Given the description of an element on the screen output the (x, y) to click on. 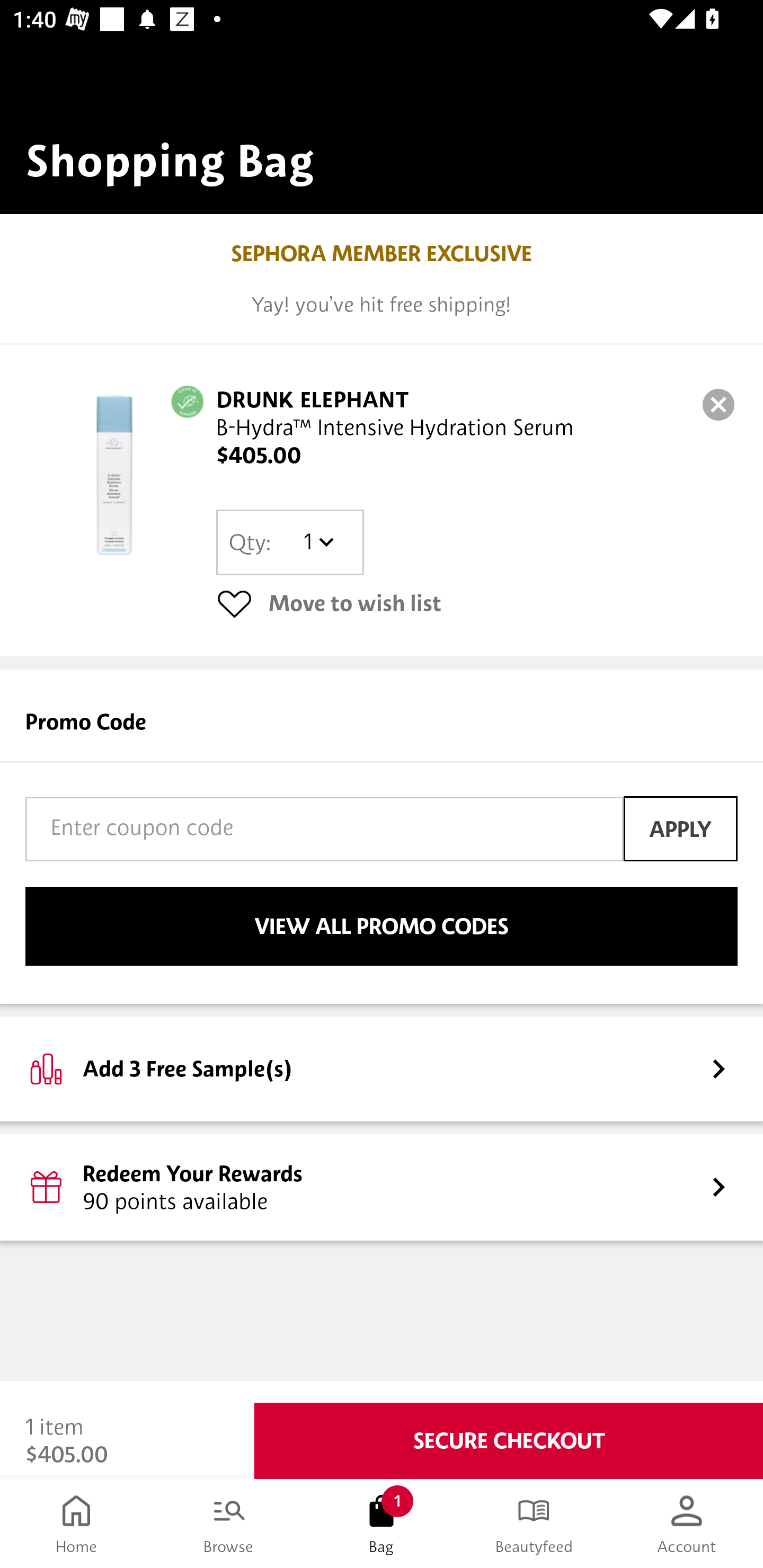
1 (317, 542)
Move to wish list (476, 602)
APPLY (680, 828)
Enter coupon code (324, 828)
VIEW ALL PROMO CODES (381, 926)
Add 3 Free Sample(s) (381, 1068)
Redeem Your Rewards 90 points available (381, 1186)
SECURE CHECKOUT (508, 1440)
Home (76, 1523)
Browse (228, 1523)
Beautyfeed (533, 1523)
Account (686, 1523)
